Given the description of an element on the screen output the (x, y) to click on. 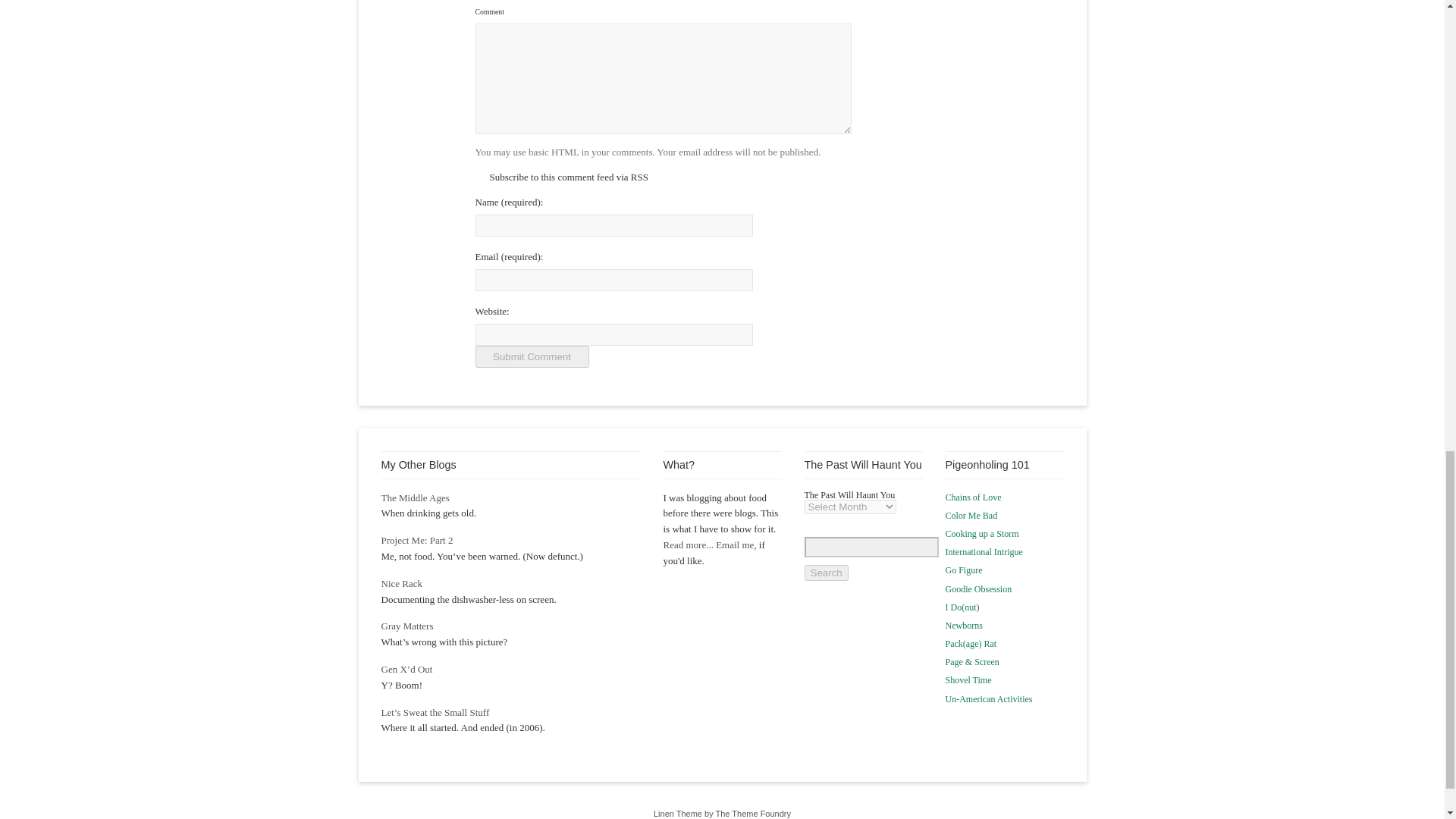
Submit Comment (531, 356)
Search (825, 572)
